Given the description of an element on the screen output the (x, y) to click on. 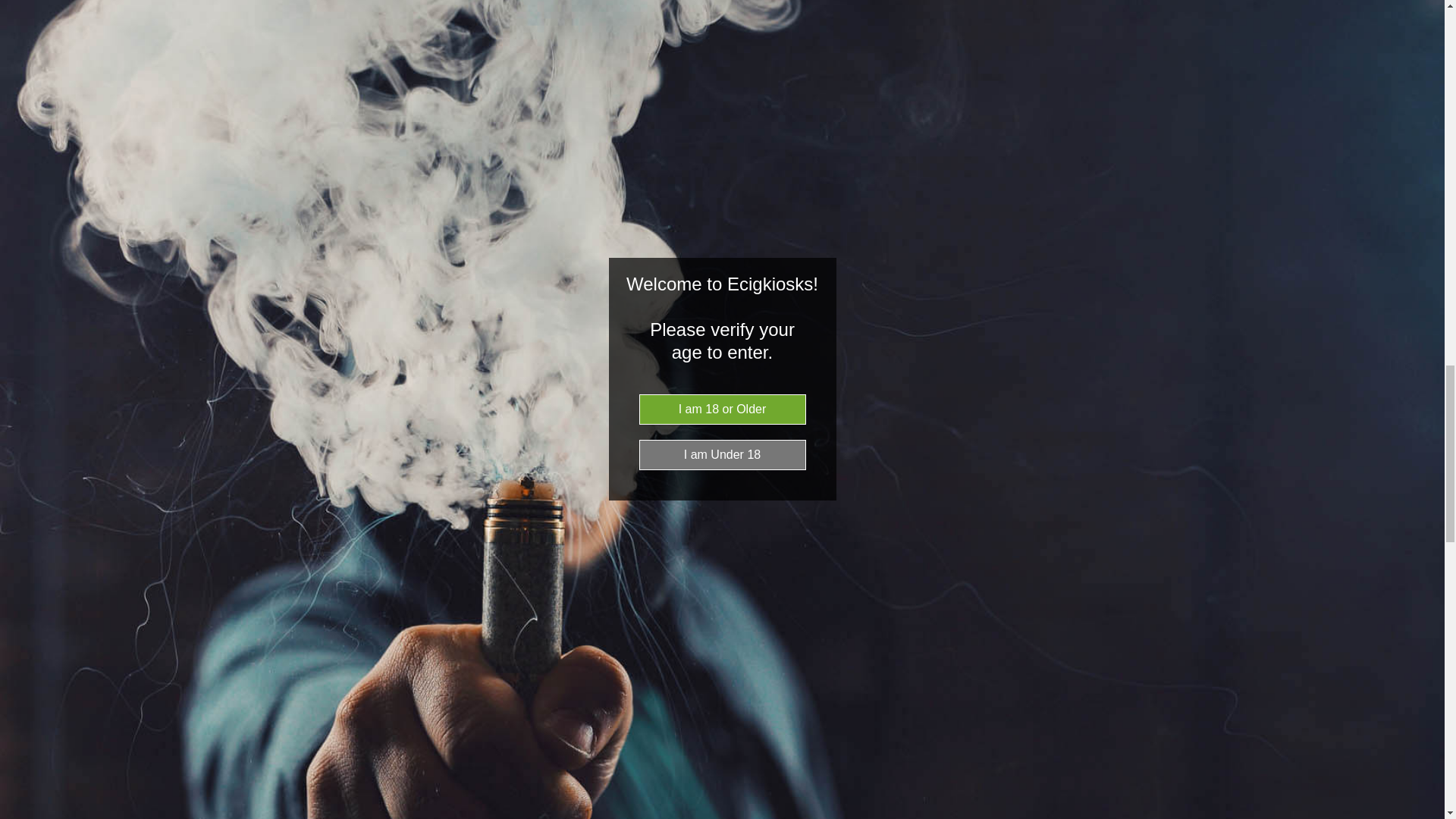
Facebook Dungannon (701, 243)
Instagram (738, 243)
